Given the description of an element on the screen output the (x, y) to click on. 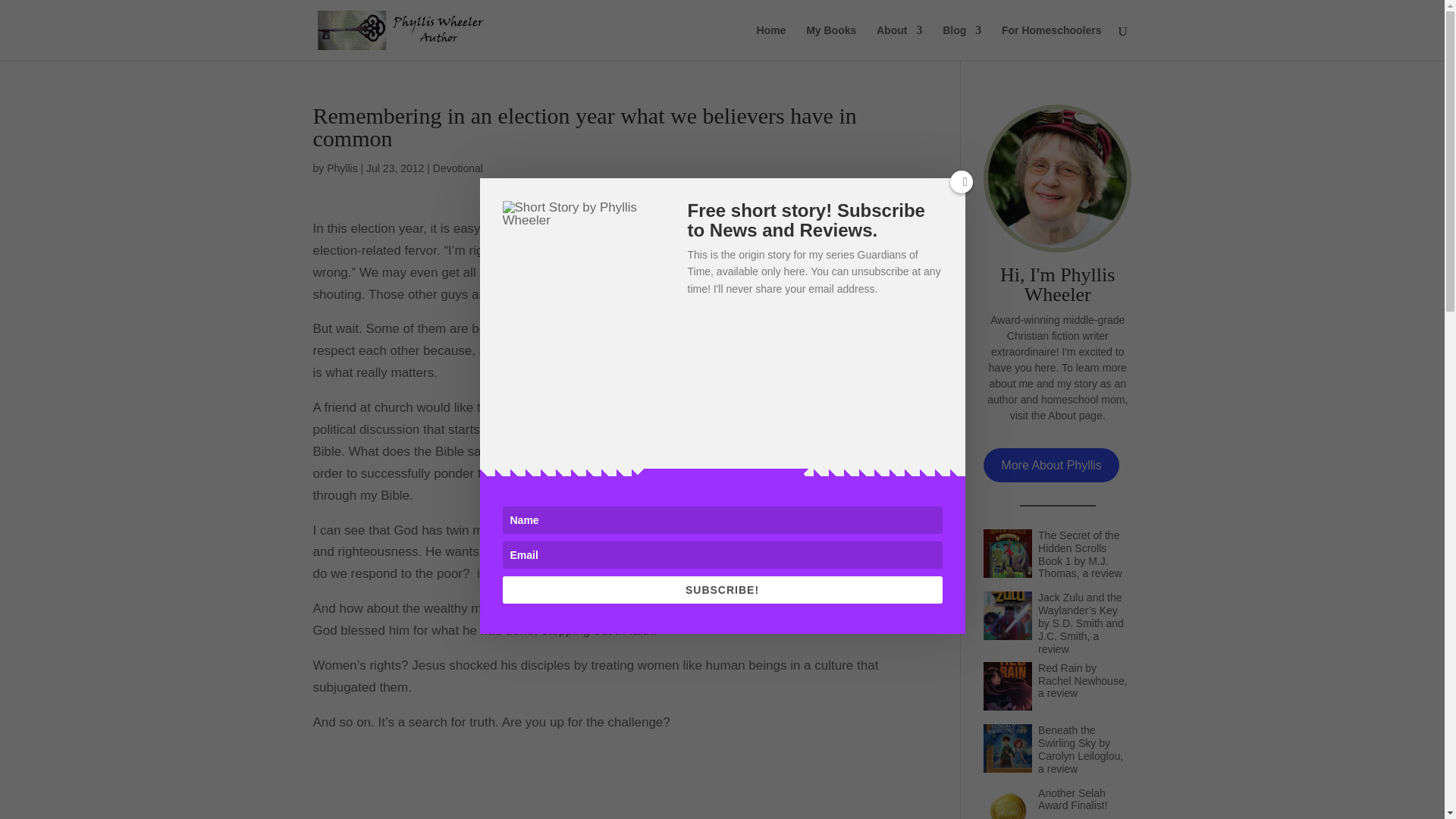
Devotional (457, 168)
Phyllis (341, 168)
Another Selah Award Finalist! (1084, 803)
For Homeschoolers (1050, 42)
Beneath the Swirling Sky by Carolyn Leiloglou, a review (1084, 751)
My Books (831, 42)
About (898, 42)
Posts by Phyllis (341, 168)
Red Rain by Rachel Newhouse, a review (1084, 689)
